Given the description of an element on the screen output the (x, y) to click on. 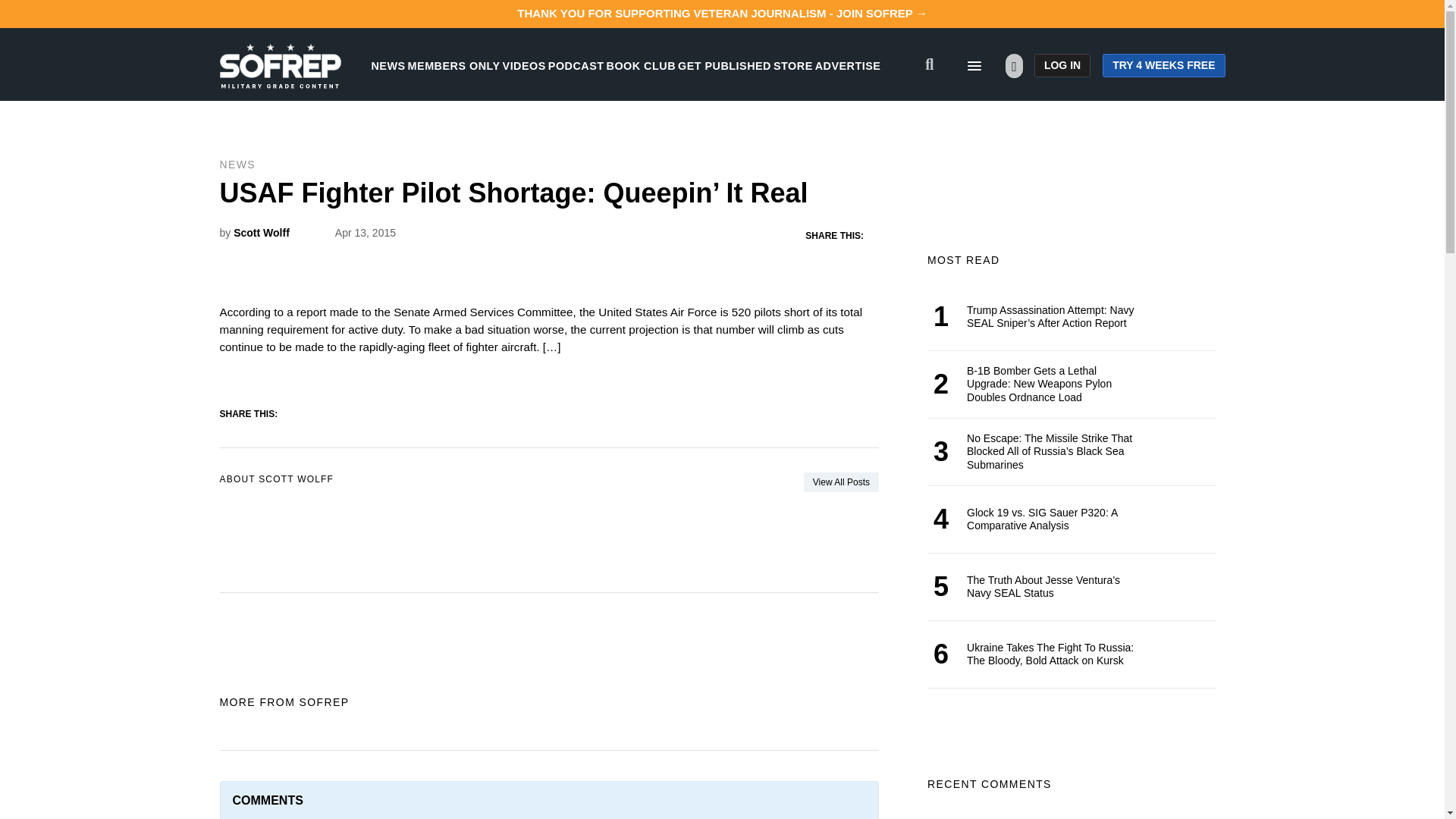
VIDEOS (524, 65)
STORE (792, 65)
BOOK CLUB (641, 65)
MEMBERS ONLY (453, 65)
ADVERTISE (847, 65)
NEWS (388, 65)
LOG IN (1061, 65)
PODCAST (576, 65)
GET PUBLISHED (724, 65)
TRY 4 WEEKS FREE (1163, 65)
